Given the description of an element on the screen output the (x, y) to click on. 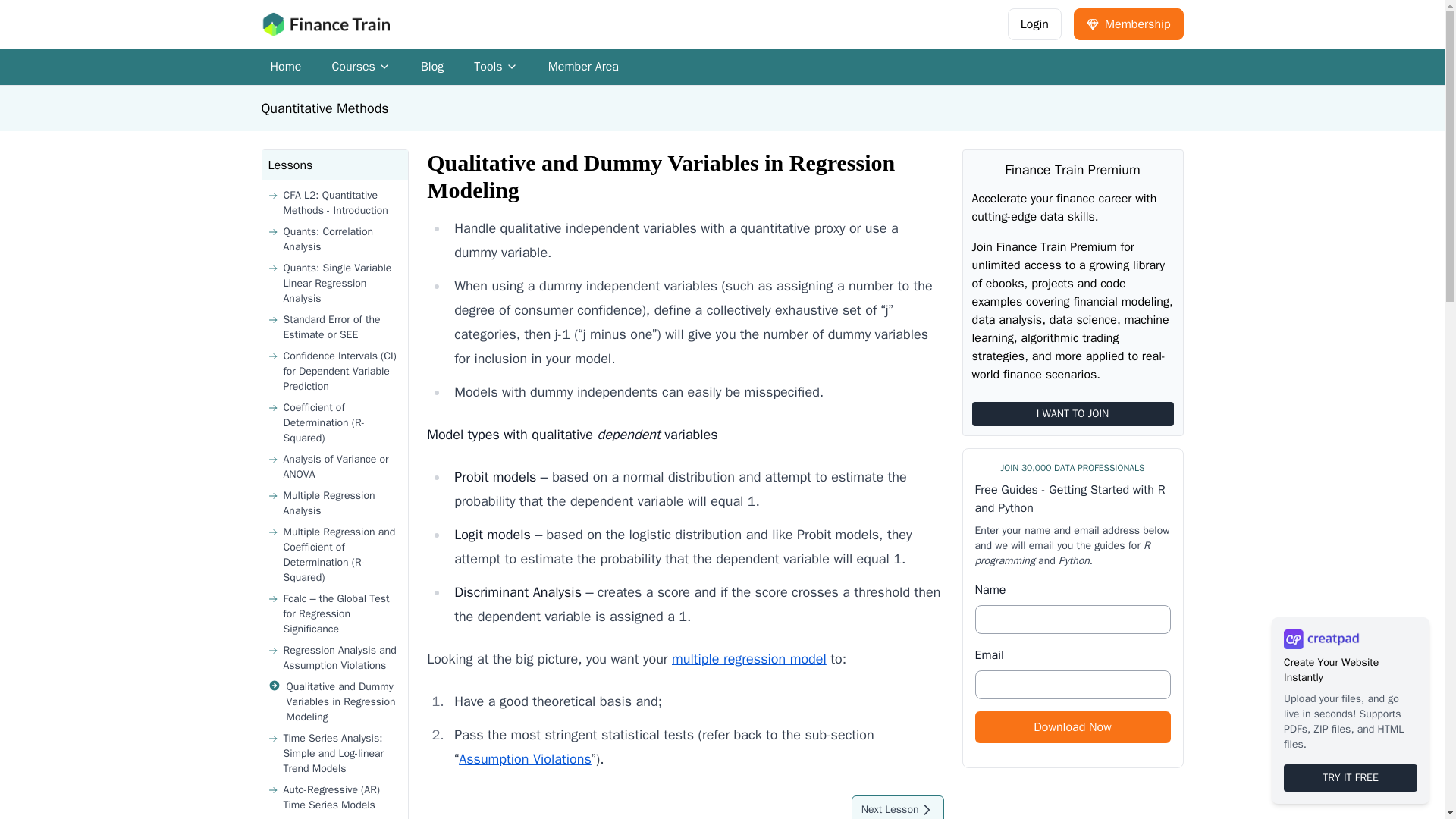
Download Now (1072, 726)
Quants: Correlation Analysis (335, 239)
Multiple Regression Analysis (360, 66)
Regression Analysis and Assumption Violations (749, 658)
Quantitative Methods (524, 759)
Standard Error of the Estimate or SEE (721, 107)
Analysis of Variance or ANOVA (495, 66)
Membership (335, 327)
